Given the description of an element on the screen output the (x, y) to click on. 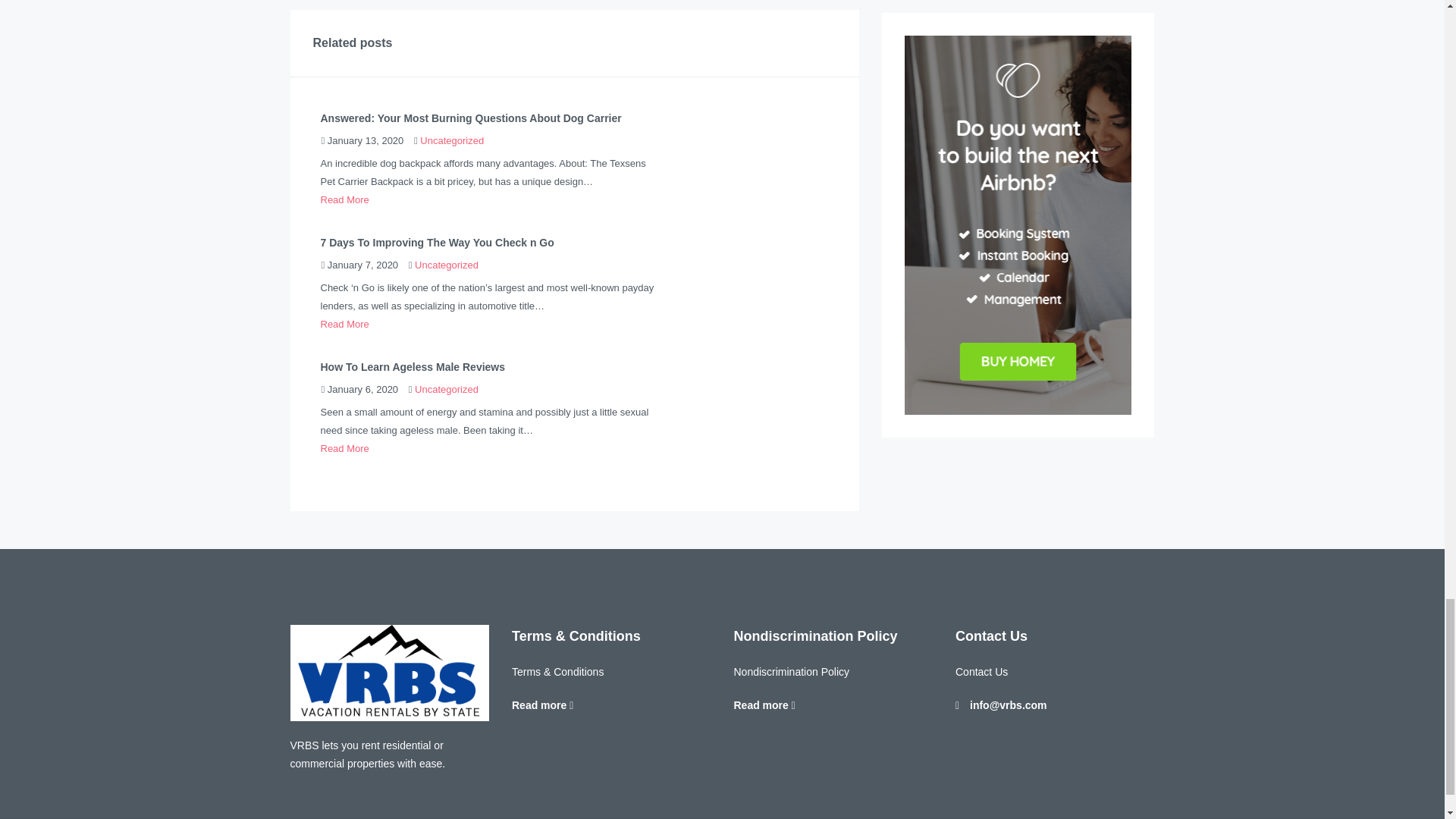
Uncategorized (451, 140)
Uncategorized (446, 265)
Read More (344, 324)
Uncategorized (446, 389)
Read More (344, 199)
Read More (344, 448)
